Given the description of an element on the screen output the (x, y) to click on. 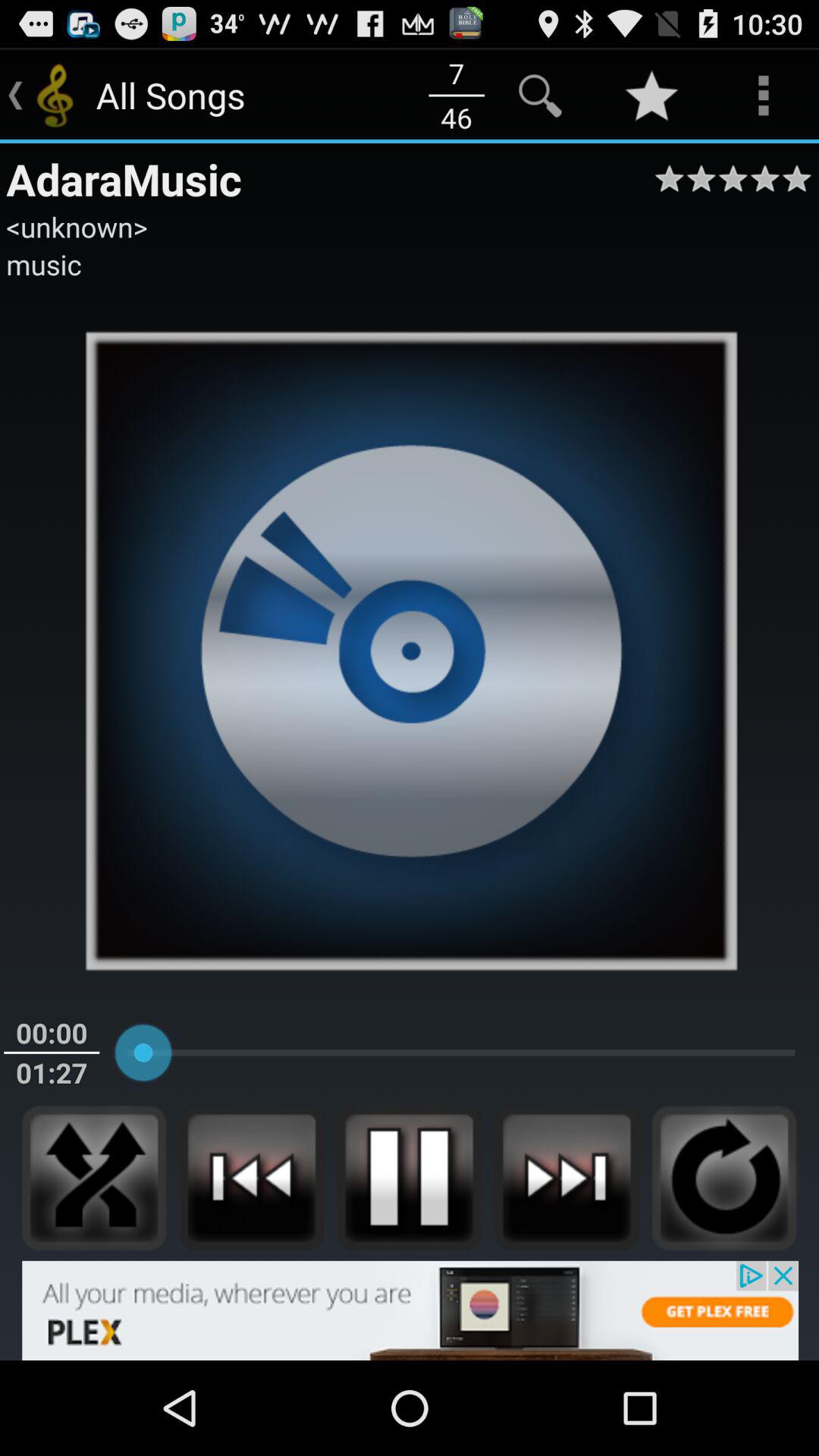
pause song (408, 1177)
